Given the description of an element on the screen output the (x, y) to click on. 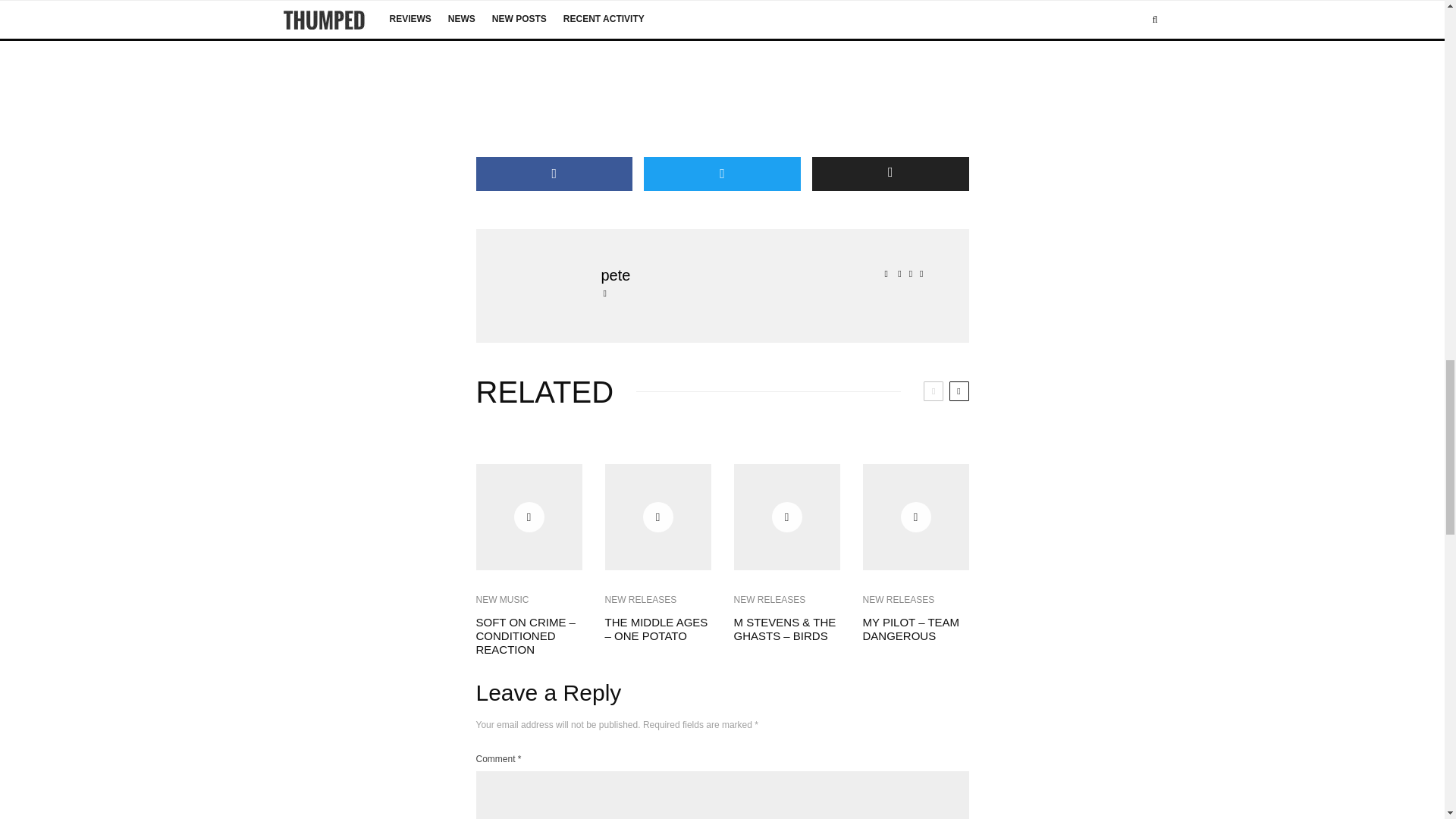
pete (764, 275)
O EMPEROR (771, 10)
CONTACT (647, 10)
VITREOUS (844, 10)
BIG SKIN RECORDS (562, 10)
NEWS (706, 10)
